Given the description of an element on the screen output the (x, y) to click on. 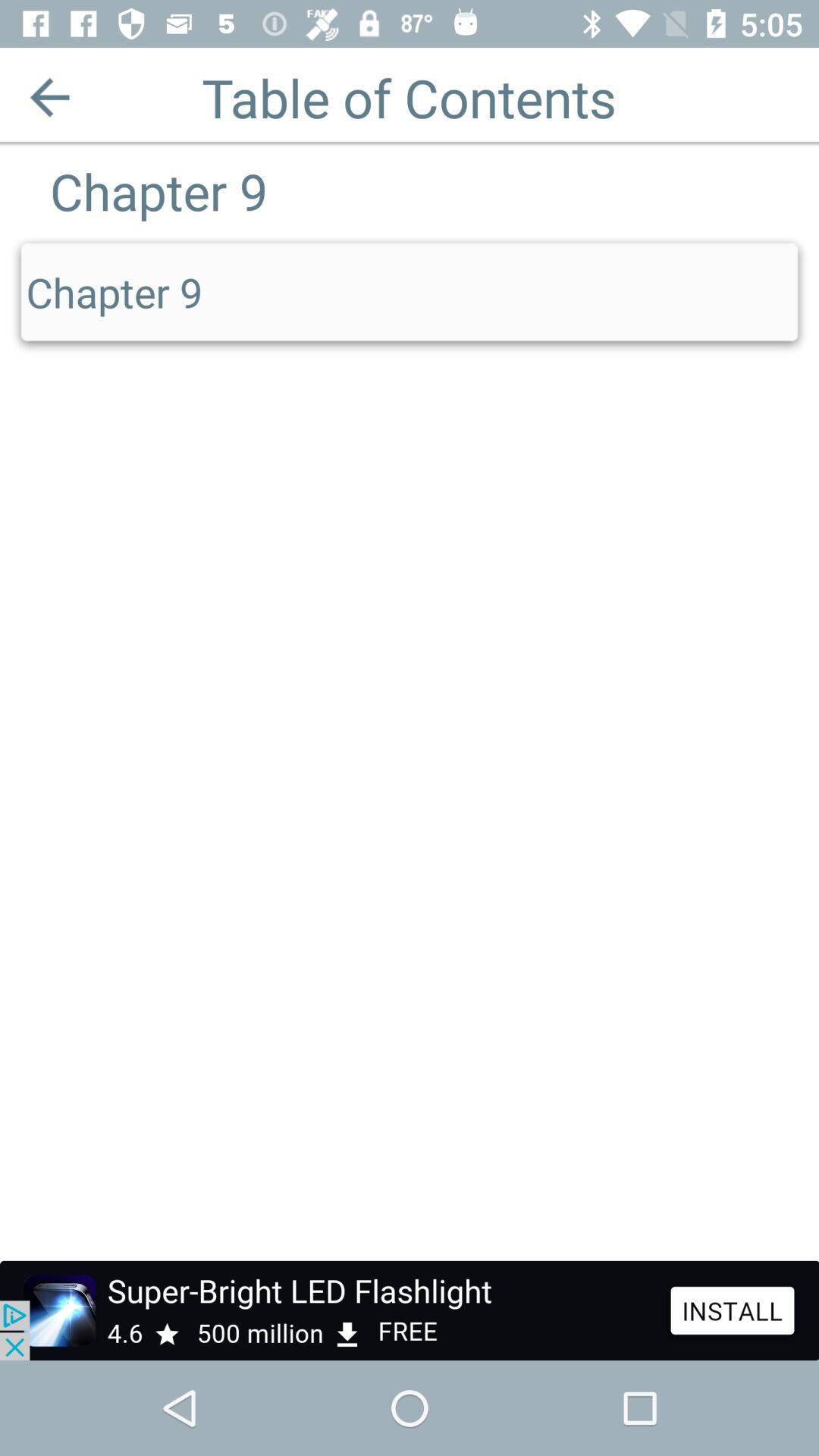
go back (49, 97)
